Given the description of an element on the screen output the (x, y) to click on. 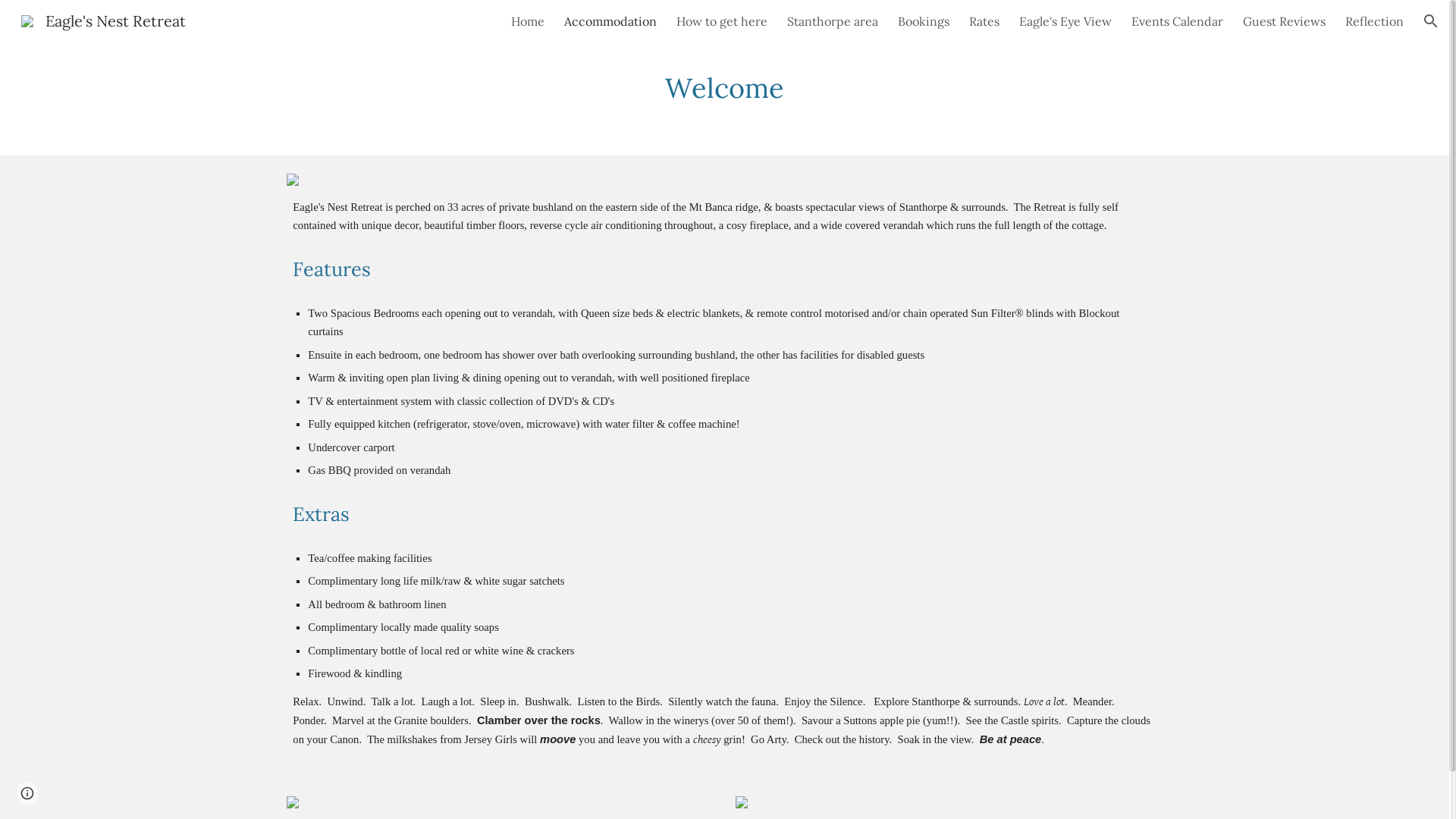
Eagle's Eye View Element type: text (1065, 20)
Guest Reviews Element type: text (1283, 20)
Home Element type: text (527, 20)
Bookings Element type: text (923, 20)
Eagle's Nest Retreat Element type: text (103, 18)
Rates Element type: text (984, 20)
Accommodation Element type: text (610, 20)
Reflection Element type: text (1374, 20)
How to get here Element type: text (721, 20)
Events Calendar Element type: text (1177, 20)
Stanthorpe area Element type: text (832, 20)
